Given the description of an element on the screen output the (x, y) to click on. 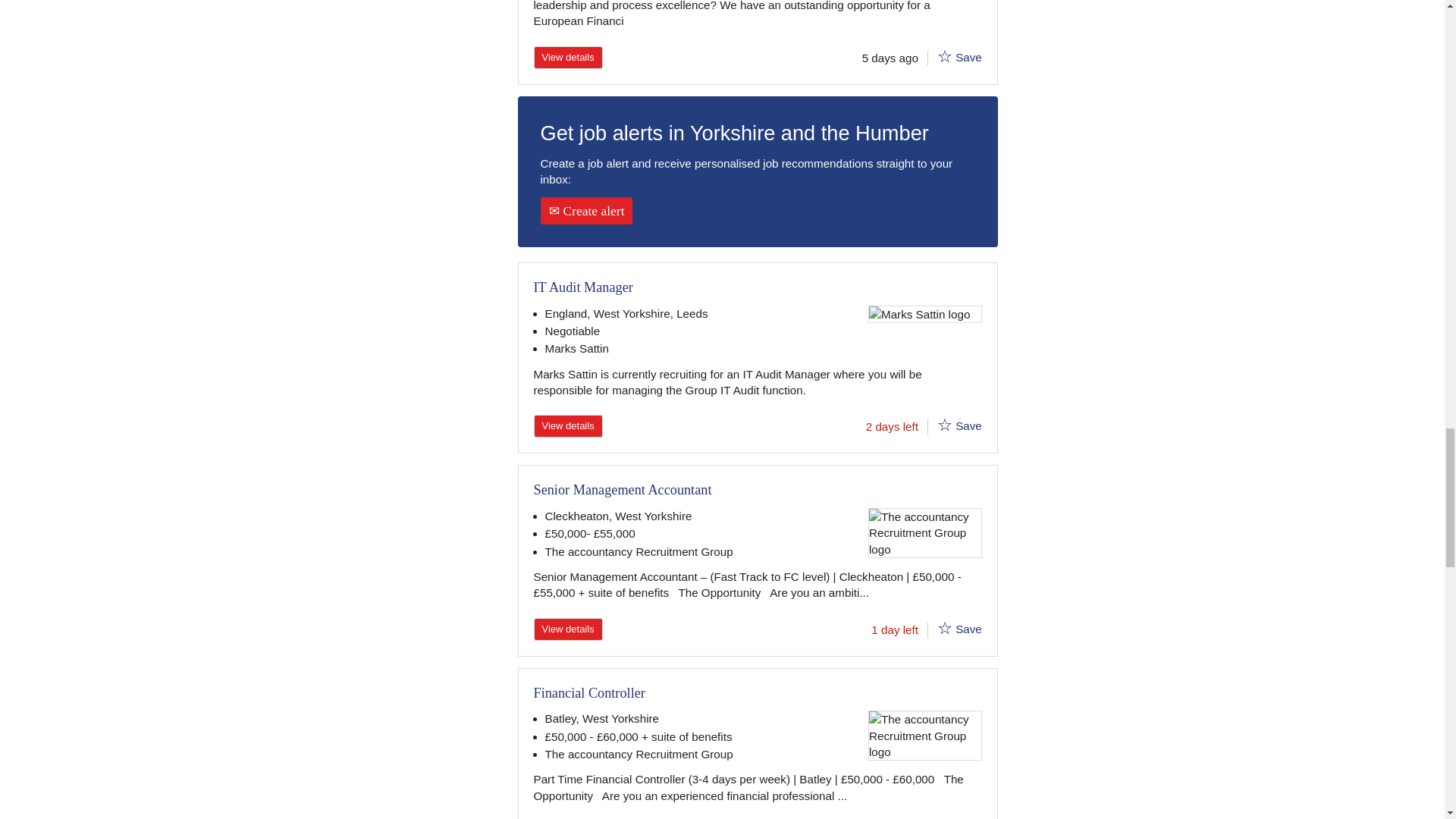
Add to shortlist (944, 424)
Add to shortlist (944, 627)
Add to shortlist (944, 55)
